Given the description of an element on the screen output the (x, y) to click on. 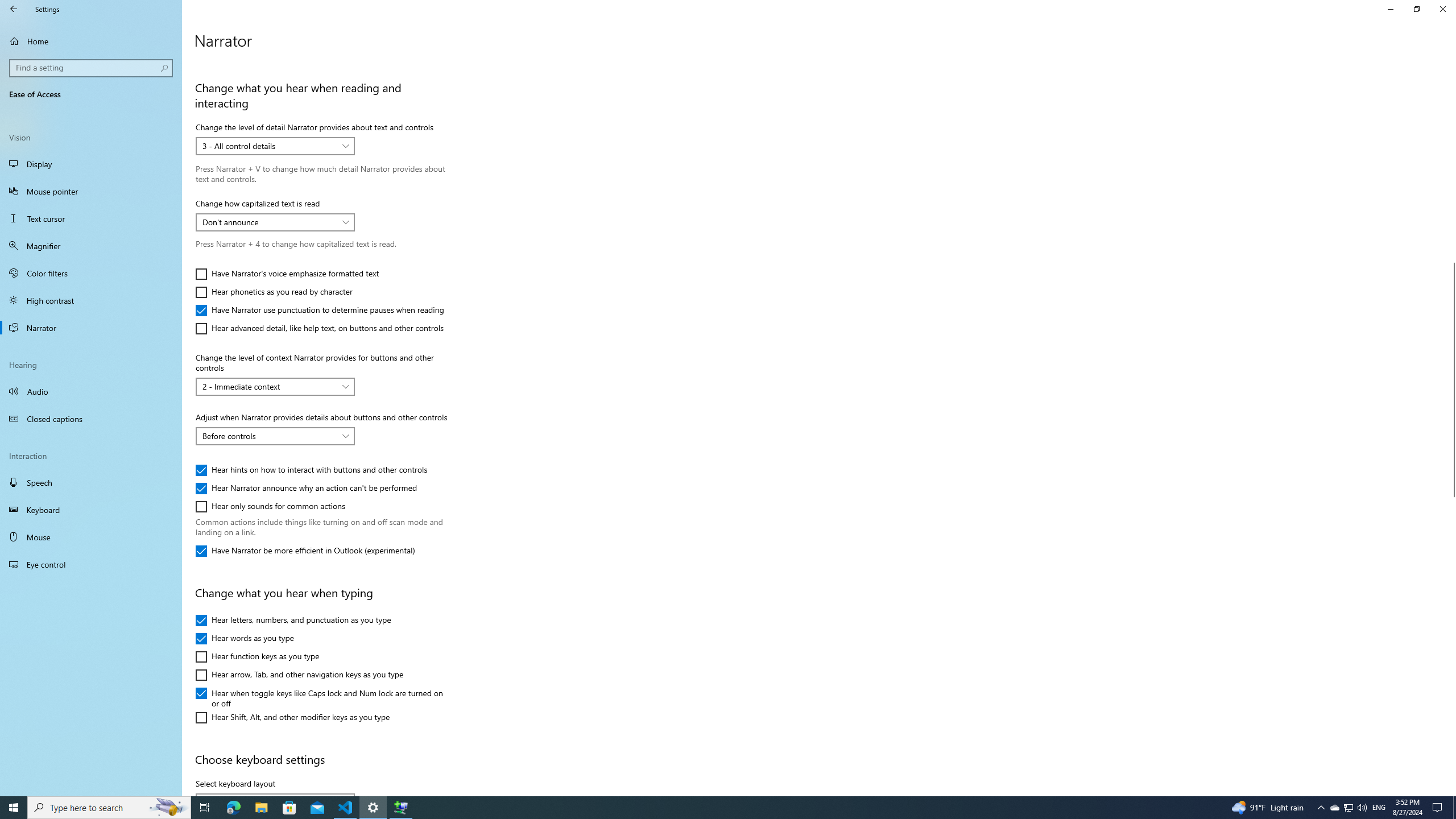
Home (91, 40)
Type here to search (108, 807)
Close Settings (1442, 9)
High contrast (91, 299)
Start (13, 807)
Hear Shift, Alt, and other modifier keys as you type (292, 717)
Running applications (706, 807)
Hear words as you type (244, 638)
Back (13, 9)
Vertical (1451, 425)
Microsoft Store (1347, 807)
File Explorer (289, 807)
